Given the description of an element on the screen output the (x, y) to click on. 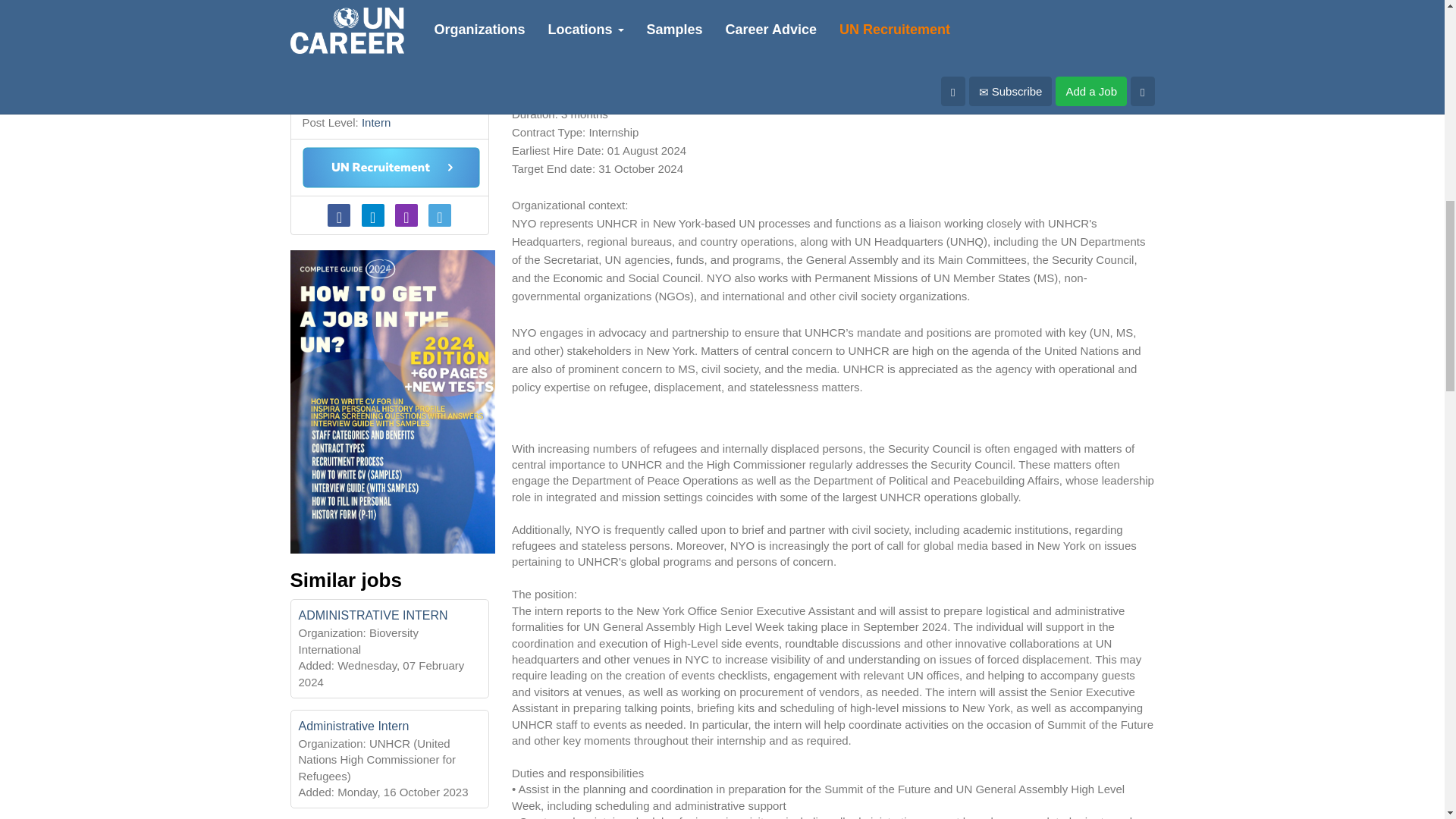
ADMINISTRATIVE INTERN (373, 615)
New York City (363, 90)
Administrative Intern (353, 725)
Intern (375, 122)
United States (381, 58)
